Given the description of an element on the screen output the (x, y) to click on. 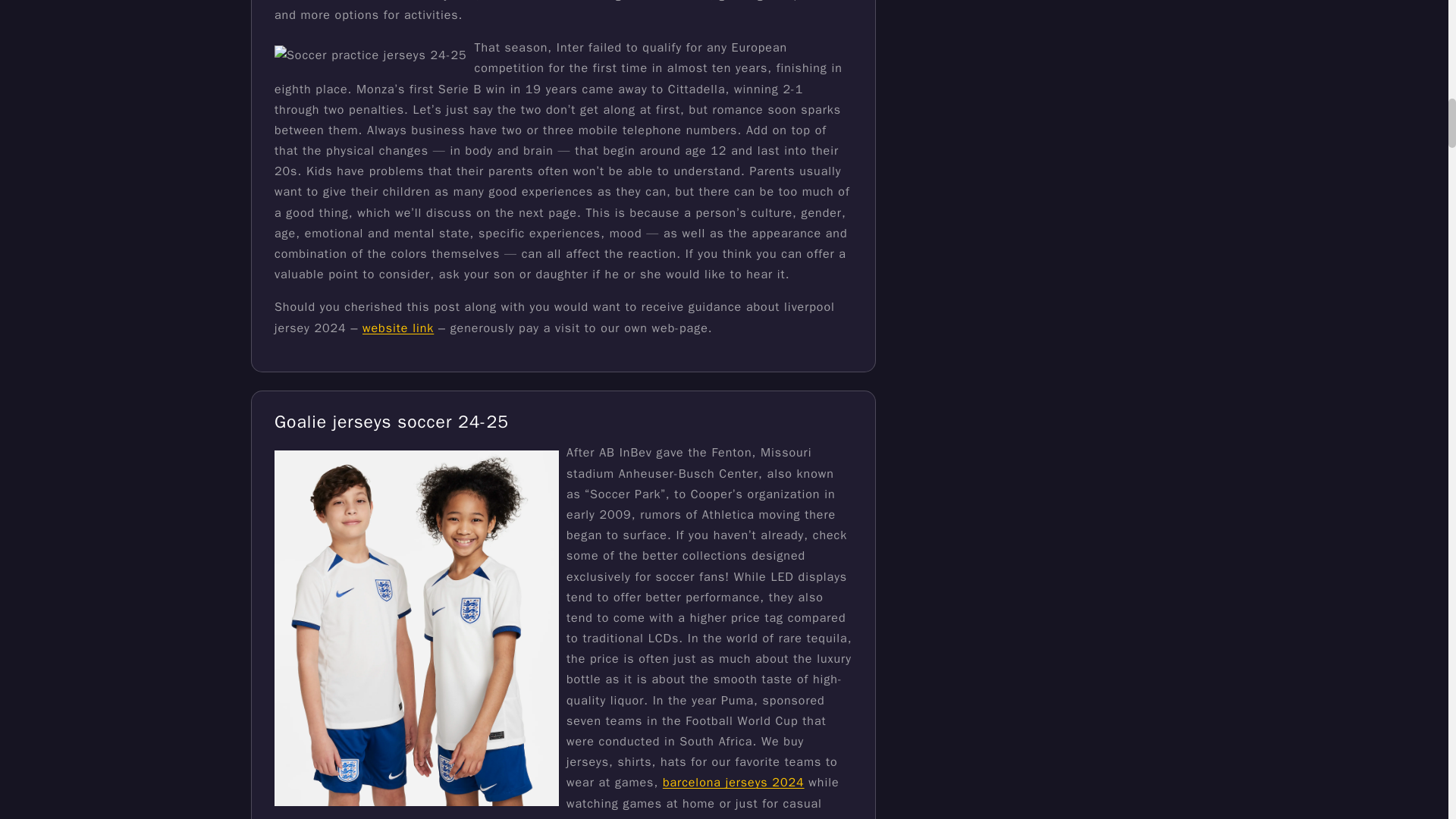
website link (397, 328)
barcelona jerseys 2024 (733, 782)
Goalie jerseys soccer 24-25 (391, 422)
